Given the description of an element on the screen output the (x, y) to click on. 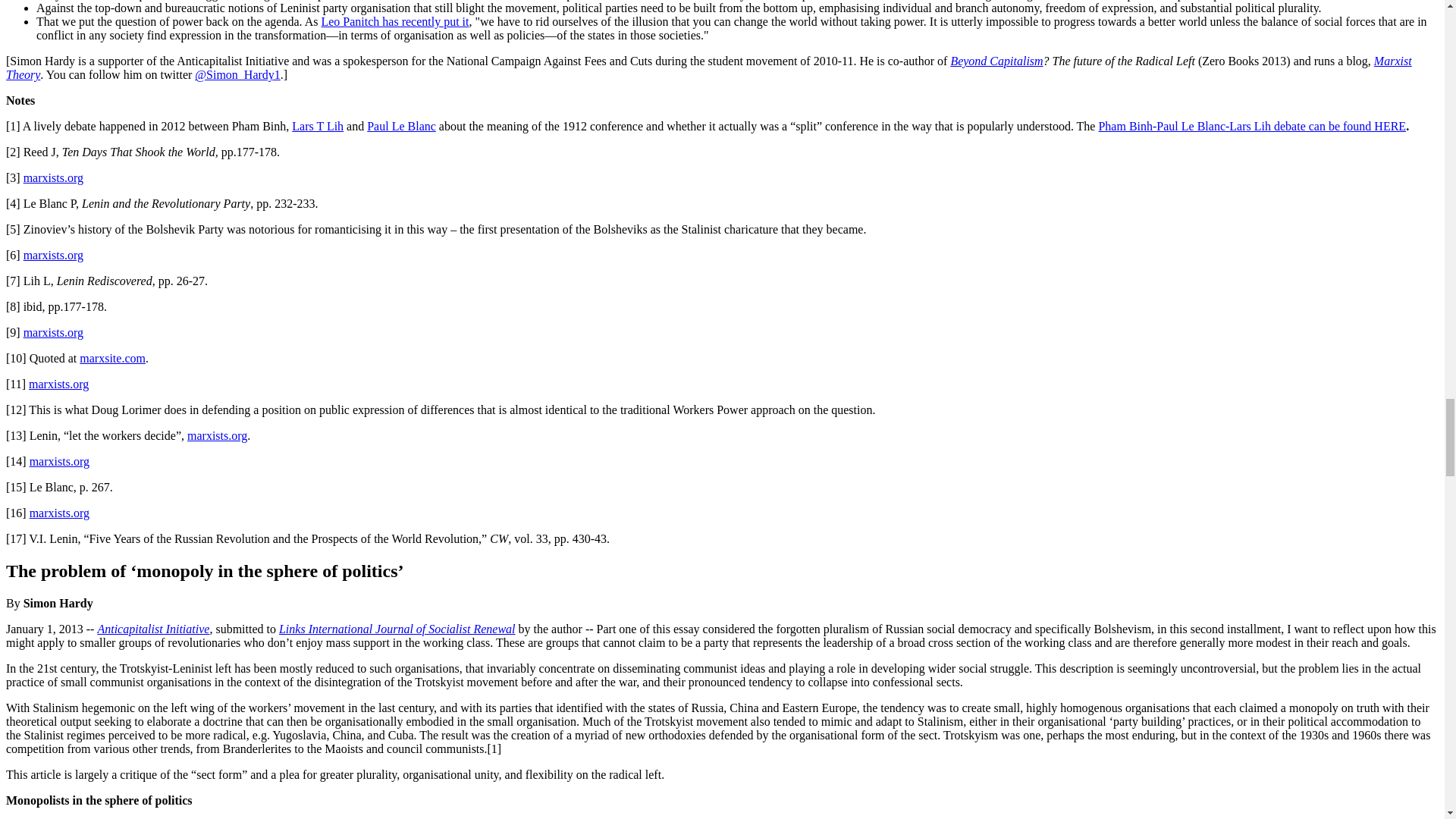
Paul Le Blanc (400, 125)
marxists.org (217, 435)
marxists.org (58, 461)
marxsite.com (112, 358)
Marxist Theory (708, 67)
marxists.org (52, 254)
Beyond Capitalism (996, 60)
Pham Binh-Paul Le Blanc-Lars Lih debate can be found HERE (1251, 125)
marxists.org (52, 177)
Leo Panitch has recently put it (394, 21)
marxists.org (58, 383)
Lars T Lih (317, 125)
marxists.org (52, 332)
